Given the description of an element on the screen output the (x, y) to click on. 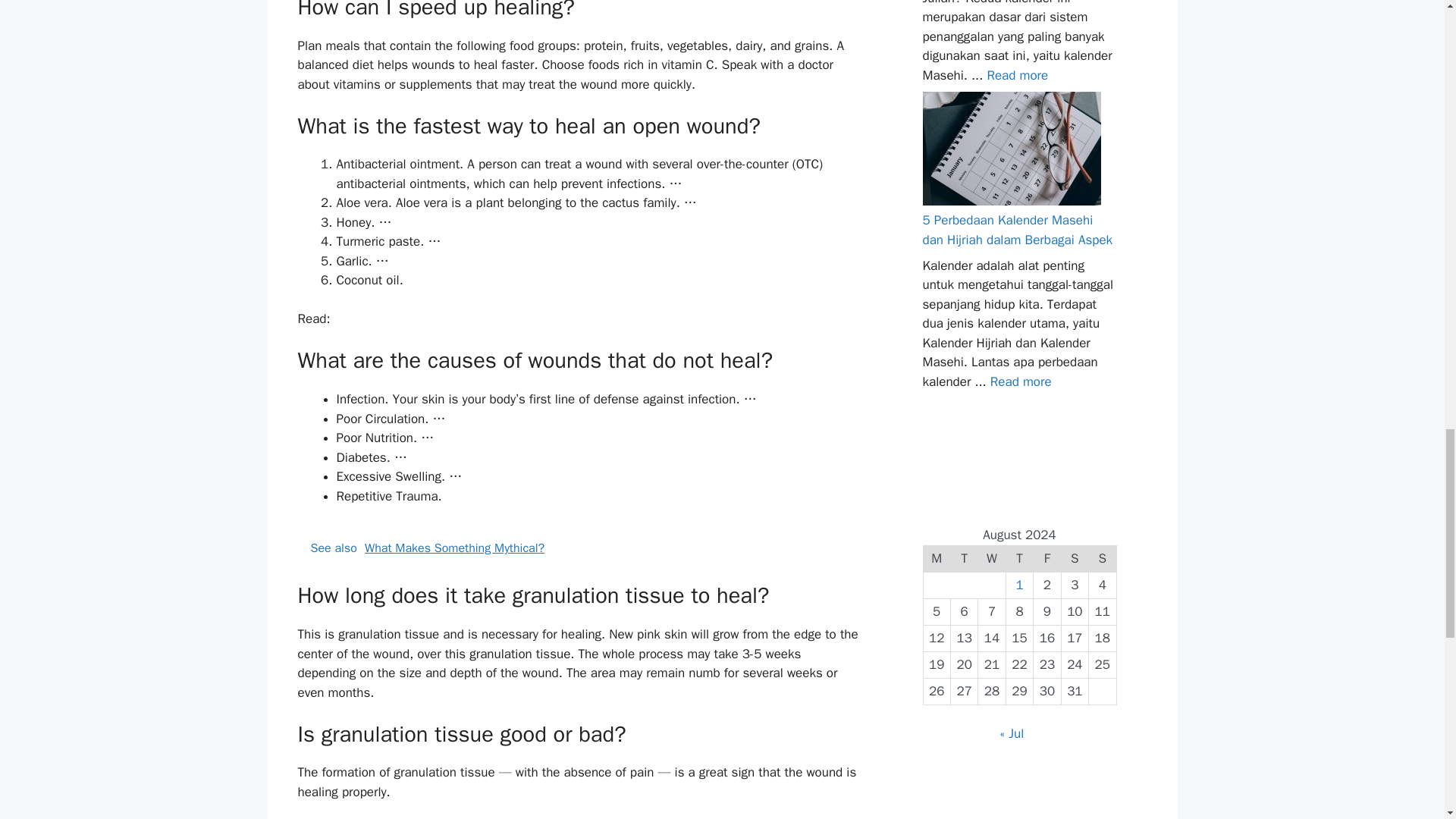
Monday (936, 558)
See also  What Makes Something Mythical? (579, 547)
5 Perbedaan Kalender Masehi dan Hijriah dalam Berbagai Aspek (1020, 381)
